Given the description of an element on the screen output the (x, y) to click on. 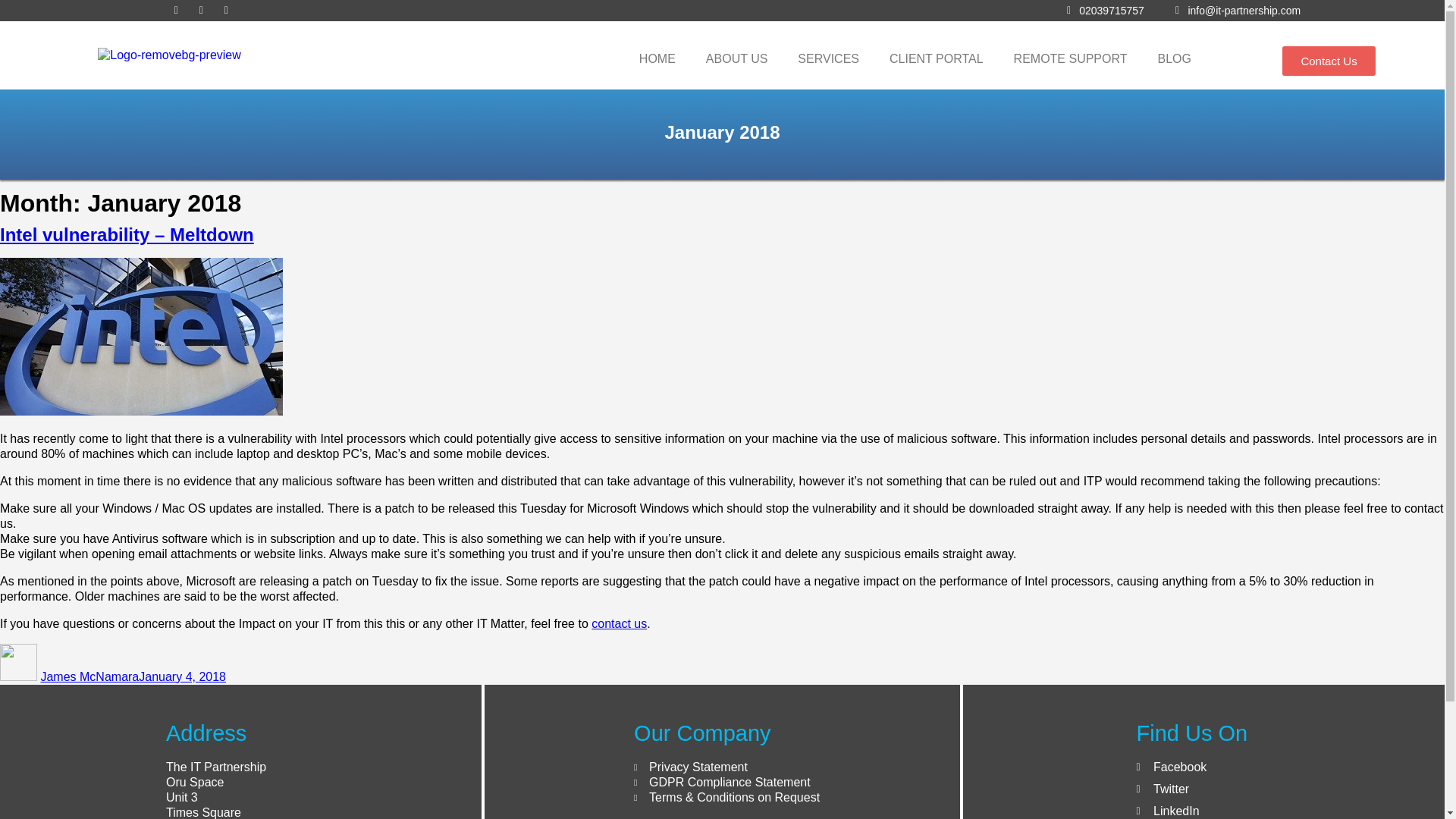
CLIENT PORTAL (936, 58)
BLOG (1174, 58)
SERVICES (829, 58)
Logo-removebg-preview (169, 55)
ABOUT US (736, 58)
HOME (657, 58)
02039715757 (1103, 10)
REMOTE SUPPORT (1070, 58)
